Given the description of an element on the screen output the (x, y) to click on. 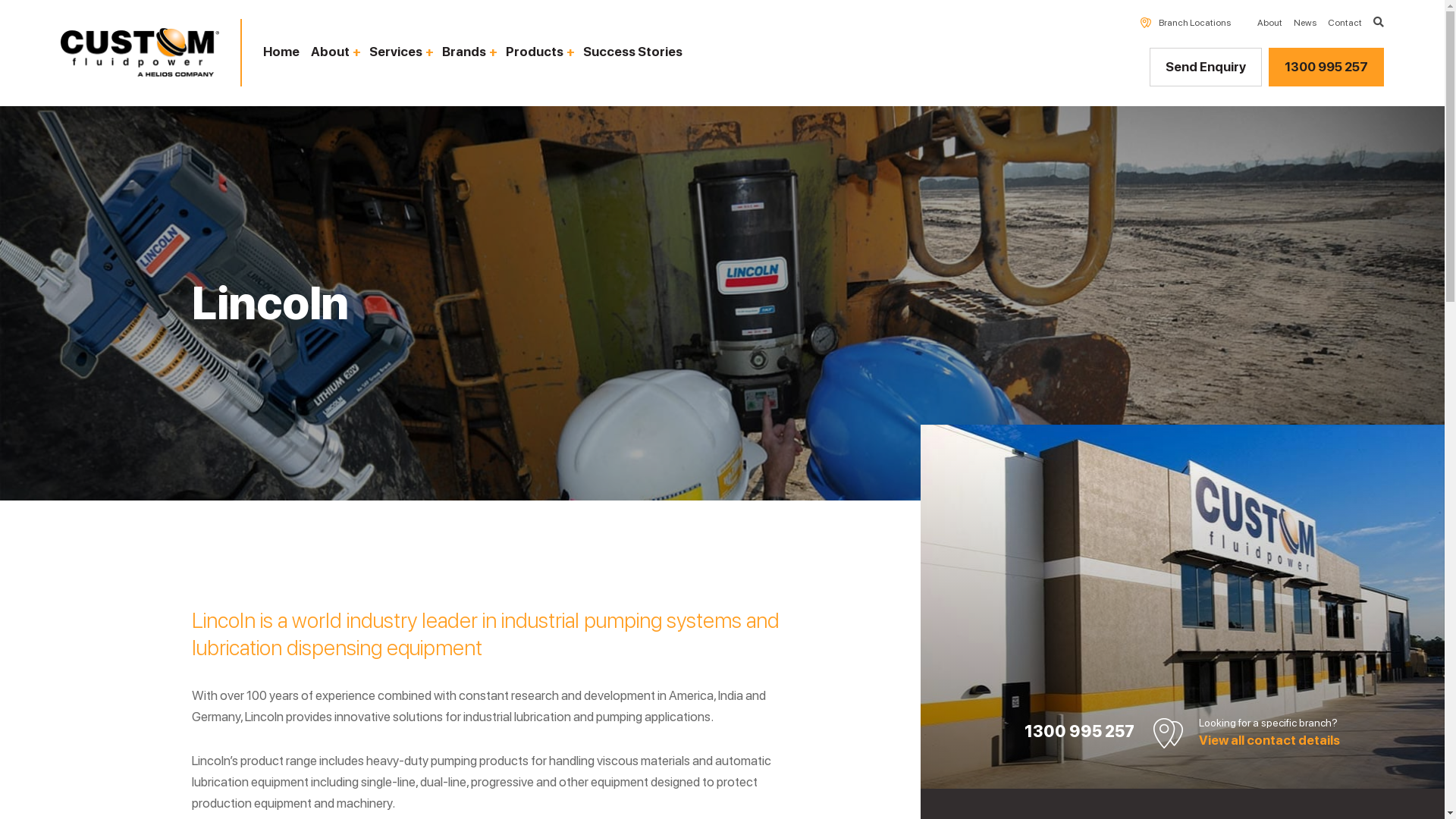
Send Enquiry Element type: text (1205, 66)
Brands Element type: text (468, 51)
Message Element type: text (553, 26)
About Element type: text (1269, 22)
News Element type: text (1304, 22)
Home Element type: text (281, 51)
1300 995 257 Element type: text (1079, 731)
Success Stories Element type: text (632, 51)
Services Element type: text (399, 51)
Branch Locations Element type: text (1194, 22)
View all contact details Element type: text (1268, 739)
Products Element type: text (538, 51)
Contact Element type: text (1344, 22)
1300 995 257 Element type: text (1325, 66)
About Element type: text (333, 51)
